Given the description of an element on the screen output the (x, y) to click on. 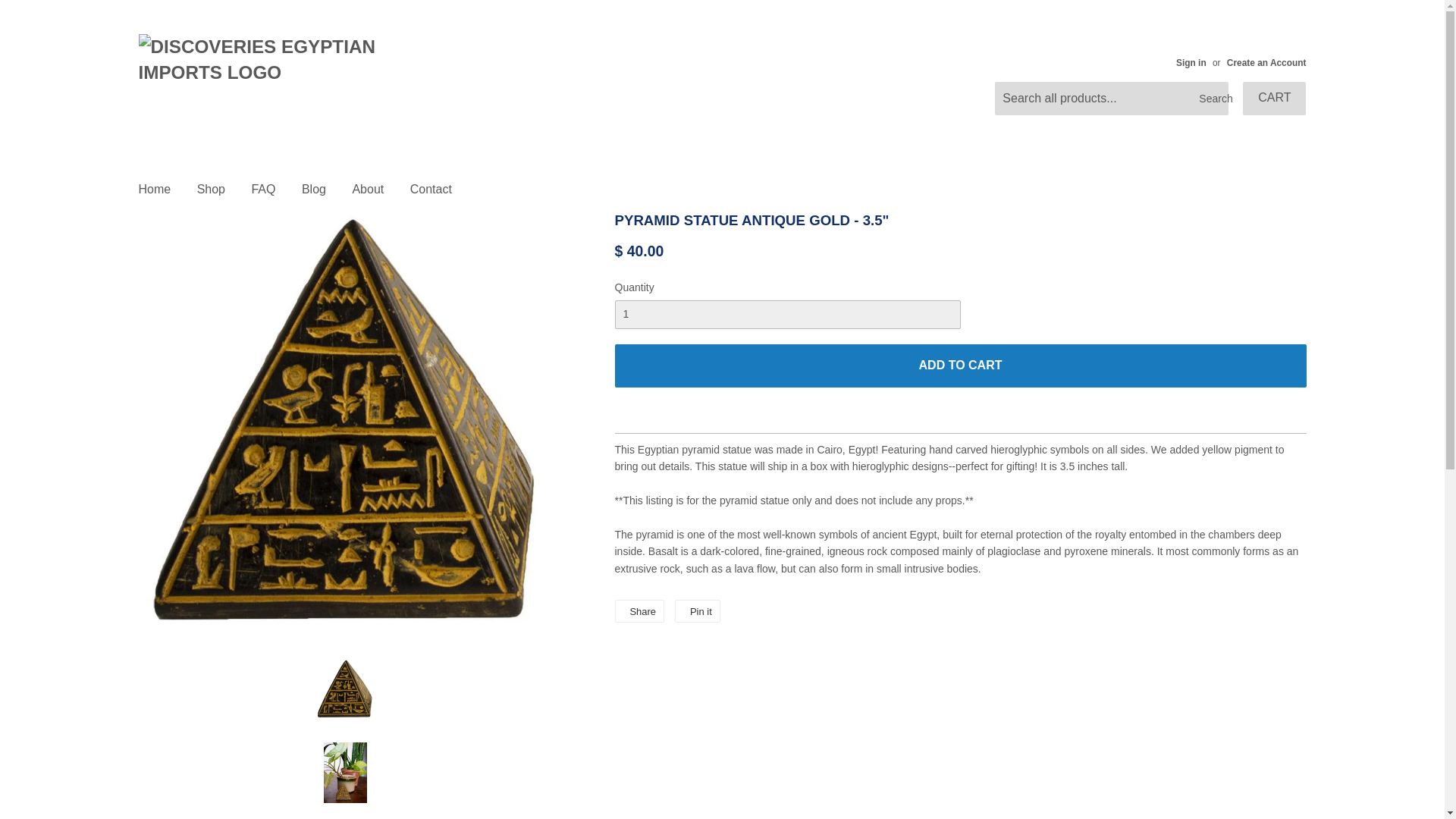
CART (1274, 98)
Search (1210, 99)
Shop (210, 189)
Create an Account (1266, 62)
1 (786, 314)
Share on Facebook (638, 610)
Sign in (1191, 62)
Home (155, 189)
FAQ (263, 189)
Pin on Pinterest (697, 610)
